Given the description of an element on the screen output the (x, y) to click on. 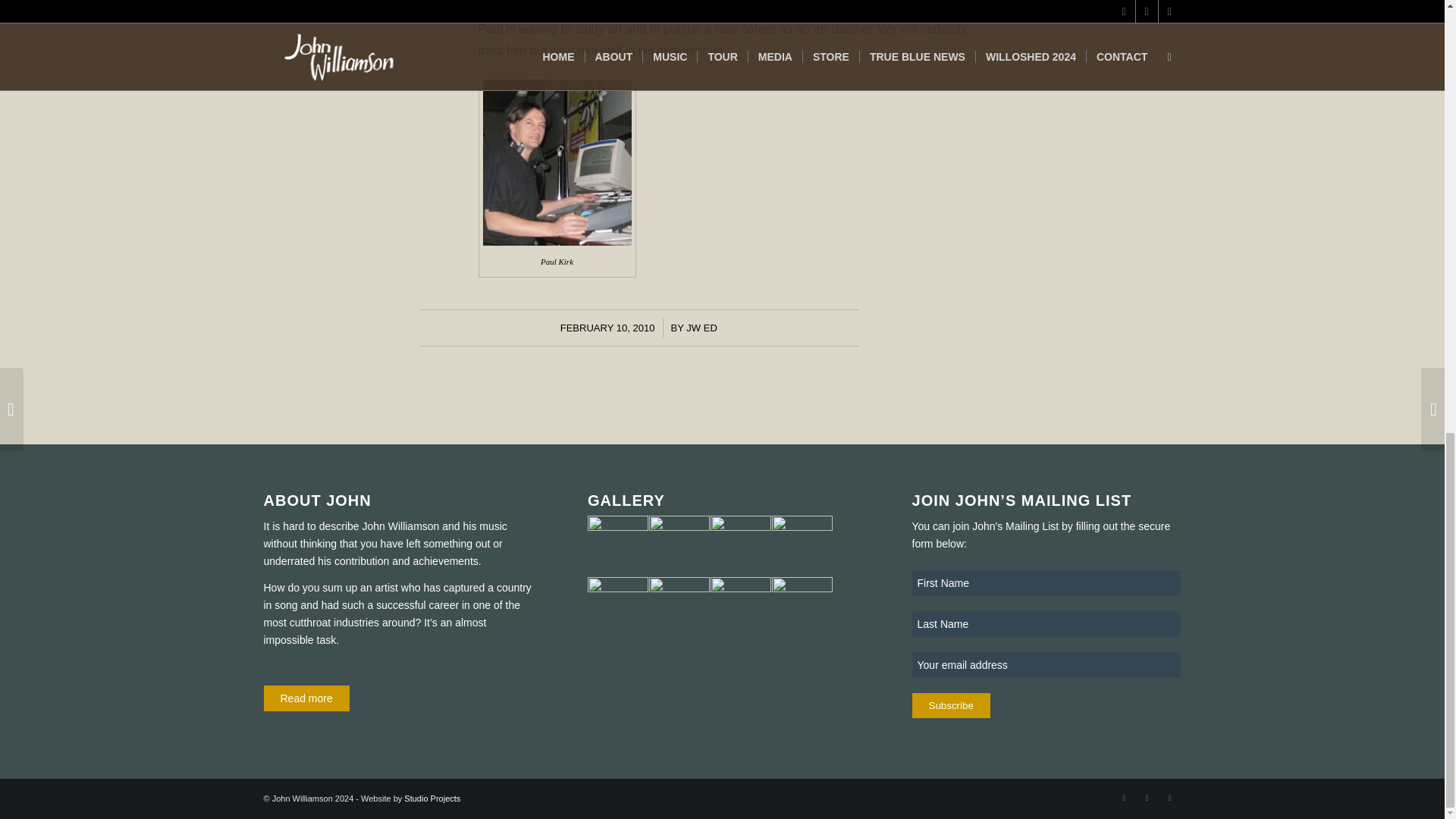
Instagram (1169, 797)
Subscribe (951, 705)
JW ED (701, 327)
Posts by JW Ed (701, 327)
Youtube (1146, 797)
Facebook (1124, 797)
